Given the description of an element on the screen output the (x, y) to click on. 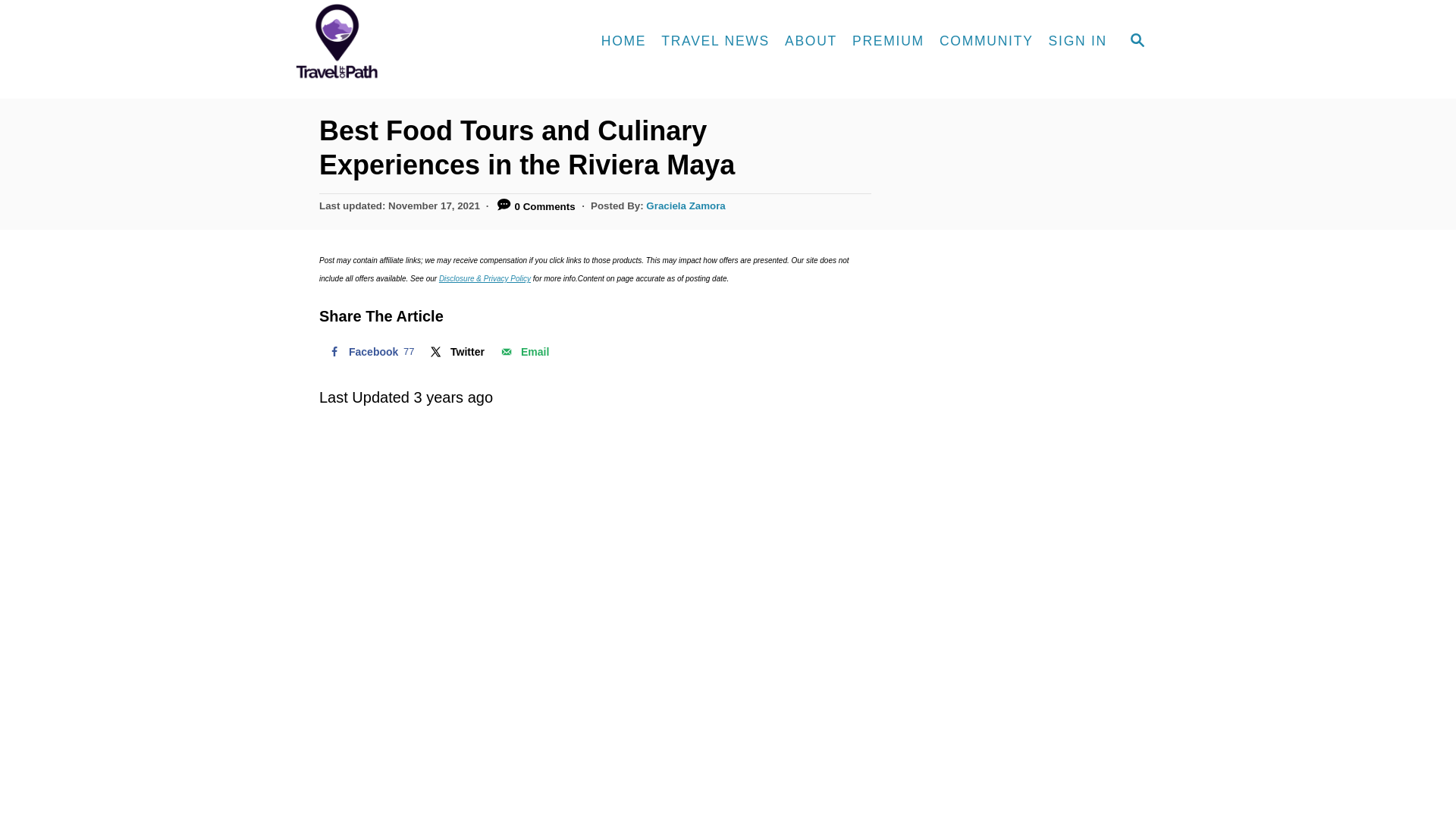
SIGN IN (369, 351)
TRAVEL NEWS (1078, 41)
SEARCH (715, 41)
Graciela Zamora (1137, 40)
Travel Off Path (685, 205)
PREMIUM (424, 41)
Email (887, 41)
Share on X (524, 351)
Share on Facebook (456, 351)
